Given the description of an element on the screen output the (x, y) to click on. 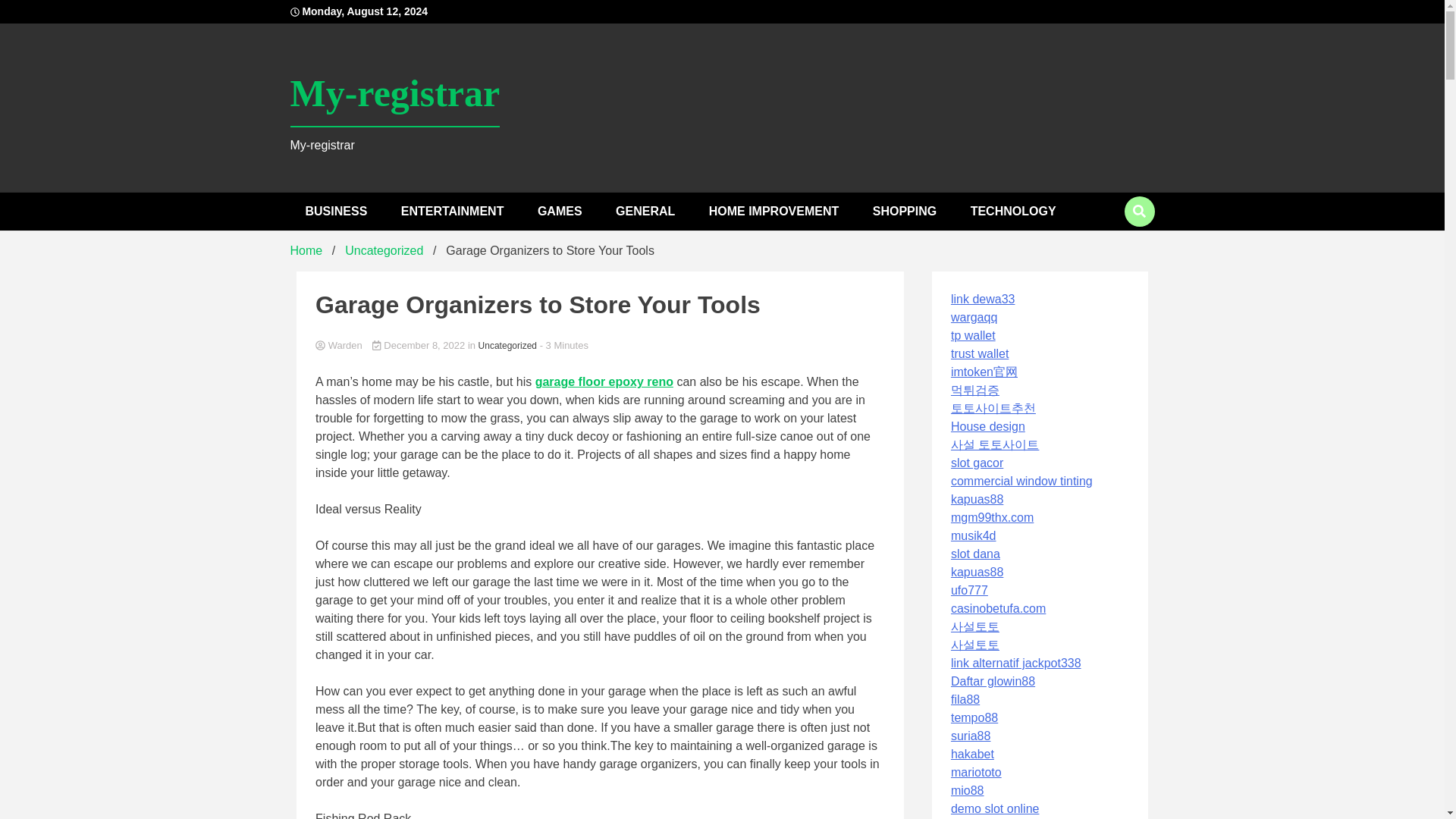
garage floor epoxy reno (603, 381)
Uncategorized (508, 345)
wargaqq (973, 317)
Home (305, 250)
link dewa33 (982, 298)
My-registrar (394, 94)
Warden (600, 345)
ENTERTAINMENT (452, 211)
Estimated Reading Time of Article (564, 345)
HOME IMPROVEMENT (774, 211)
